Given the description of an element on the screen output the (x, y) to click on. 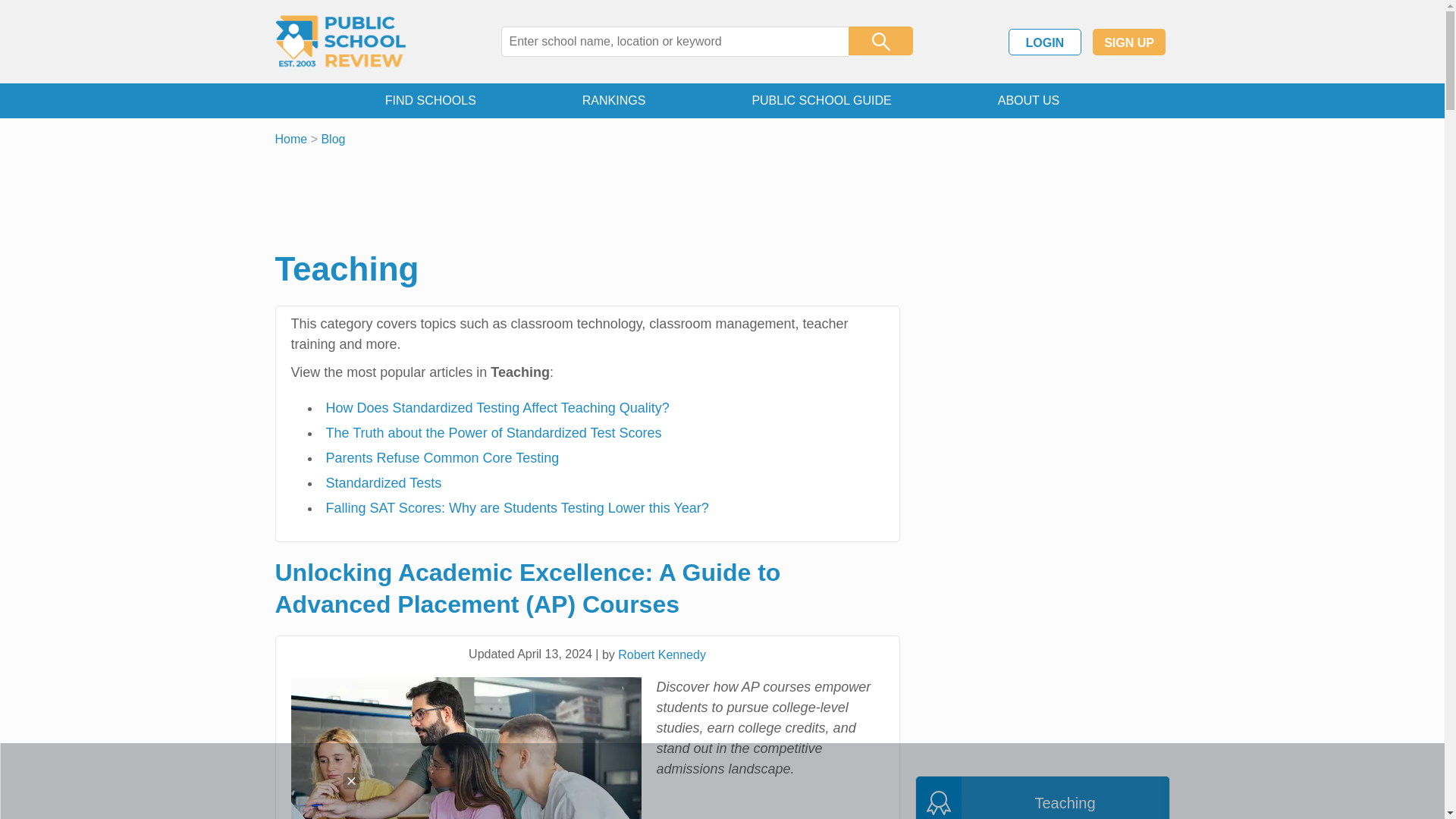
Robert Kennedy (661, 654)
LOGIN (1045, 41)
RANKINGS (613, 100)
Home (291, 138)
Standardized Tests (384, 482)
Parents Refuse Common Core Testing (442, 458)
SIGN UP (1129, 41)
PUBLIC SCHOOL GUIDE (820, 100)
How Does Standardized Testing Affect Teaching Quality? (497, 407)
